Given the description of an element on the screen output the (x, y) to click on. 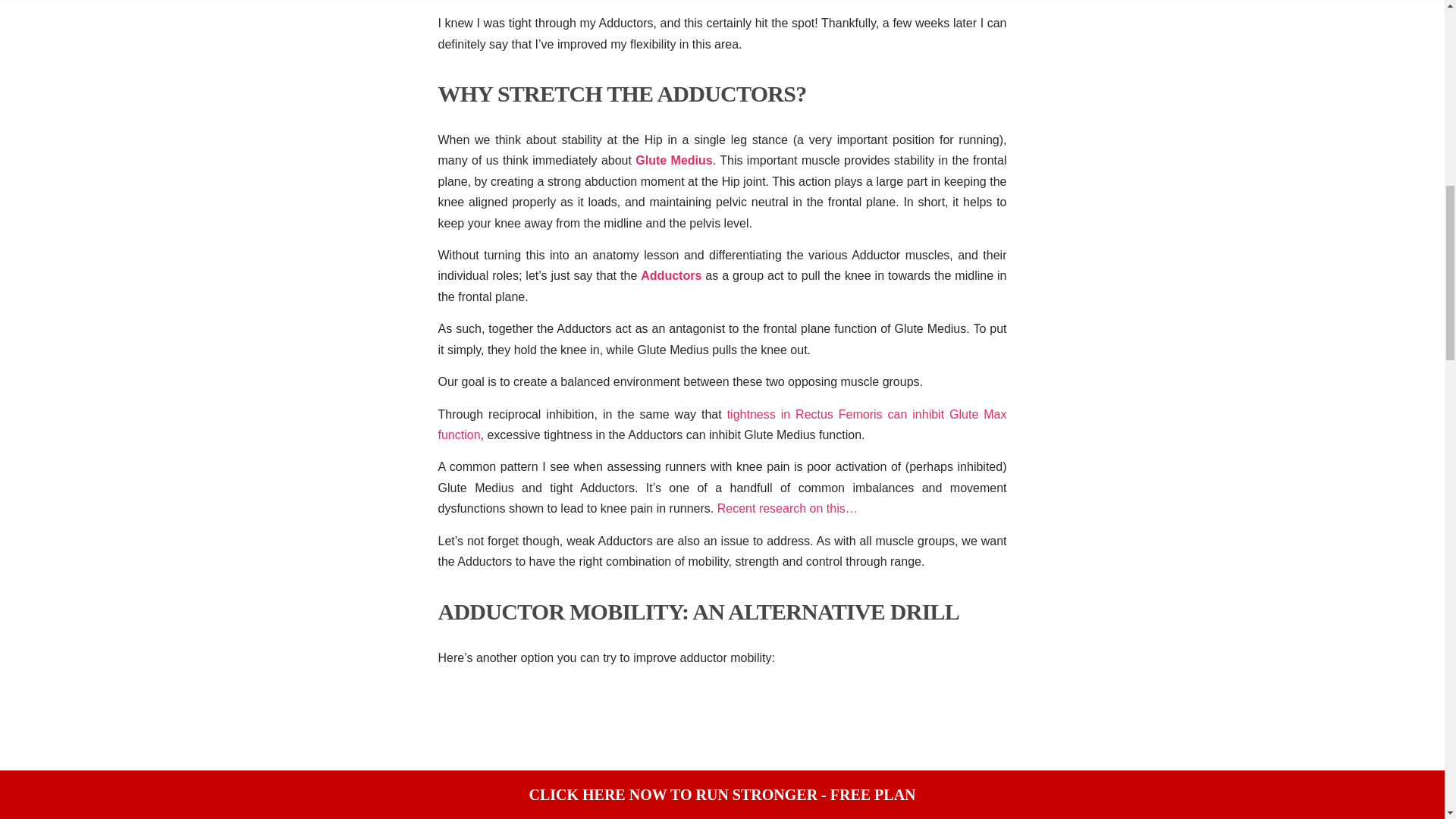
Adductors (670, 275)
tightness in Rectus Femoris can inhibit Glute Max function (722, 424)
Glute Medius (672, 160)
